Given the description of an element on the screen output the (x, y) to click on. 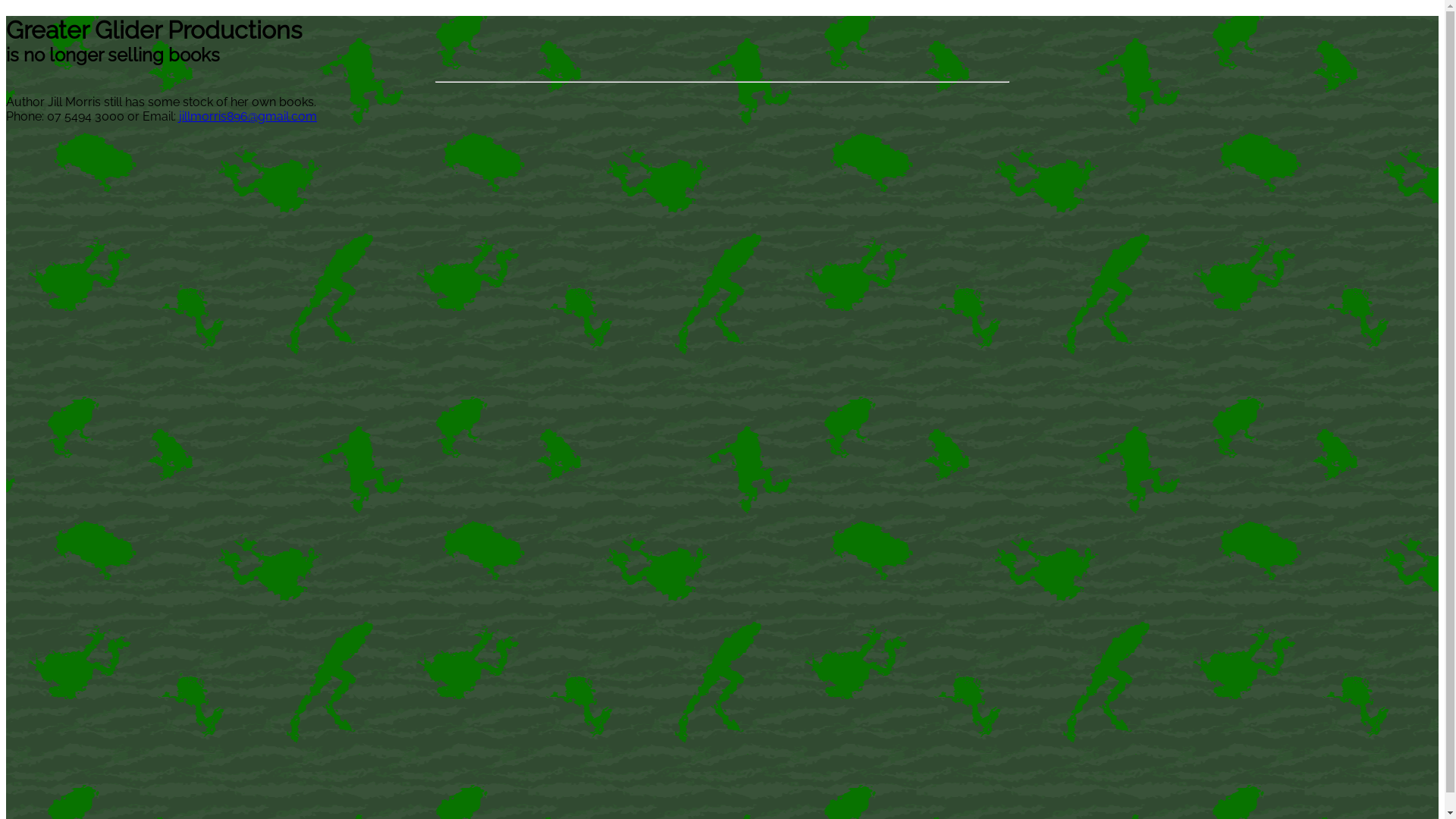
jillmorris896@gmail.com Element type: text (247, 116)
